Given the description of an element on the screen output the (x, y) to click on. 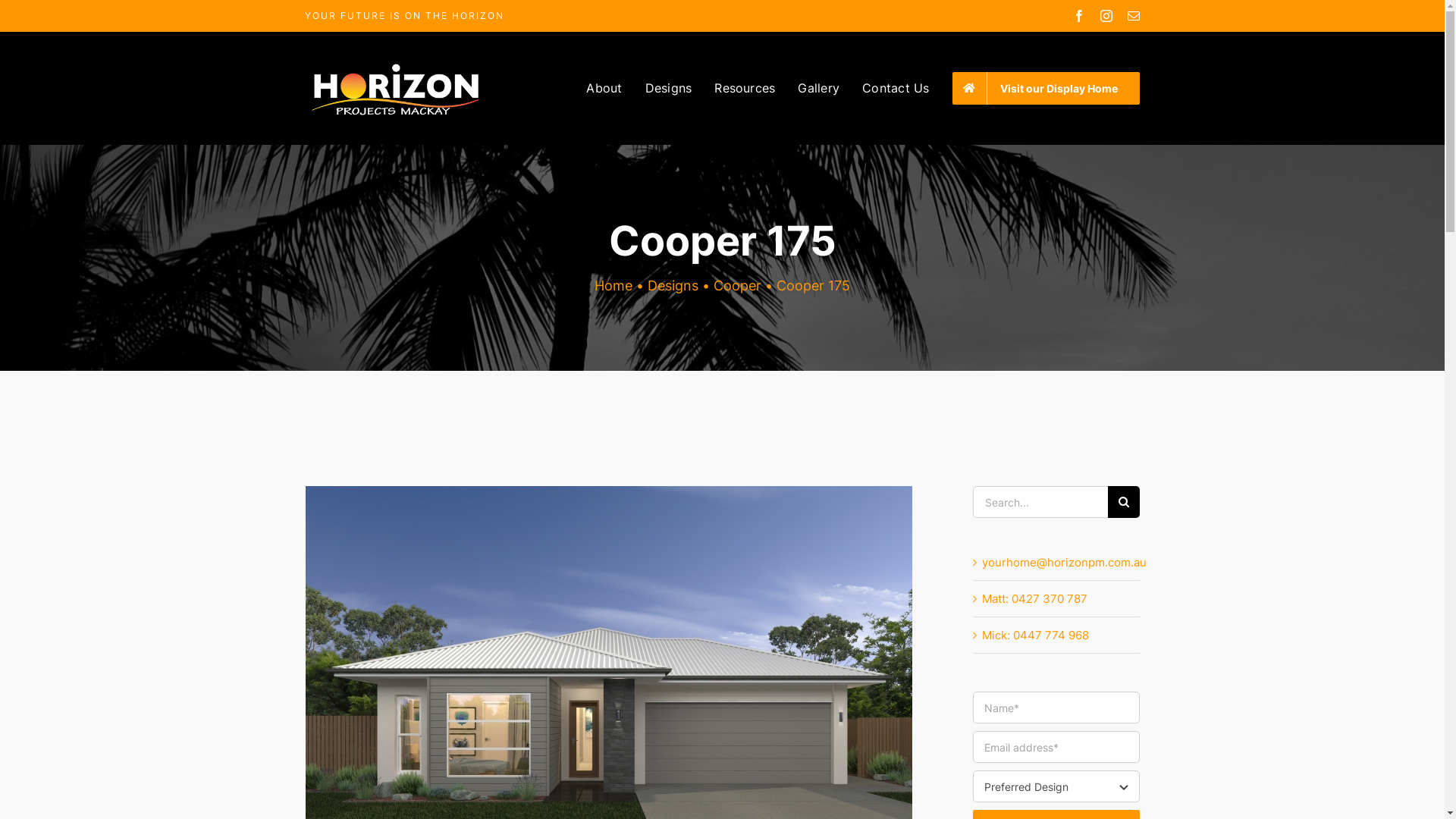
Contact Us Element type: text (895, 88)
Cooper Element type: text (737, 285)
Visit our Display Home Element type: text (1045, 88)
About Element type: text (603, 88)
Mick: 0447 774 968 Element type: text (1034, 634)
Resources Element type: text (744, 88)
Home Element type: text (613, 285)
yourhome@horizonpm.com.au Element type: text (1063, 562)
Gallery Element type: text (818, 88)
Designs Element type: text (668, 88)
Designs Element type: text (672, 285)
Matt: 0427 370 787 Element type: text (1033, 598)
